Given the description of an element on the screen output the (x, y) to click on. 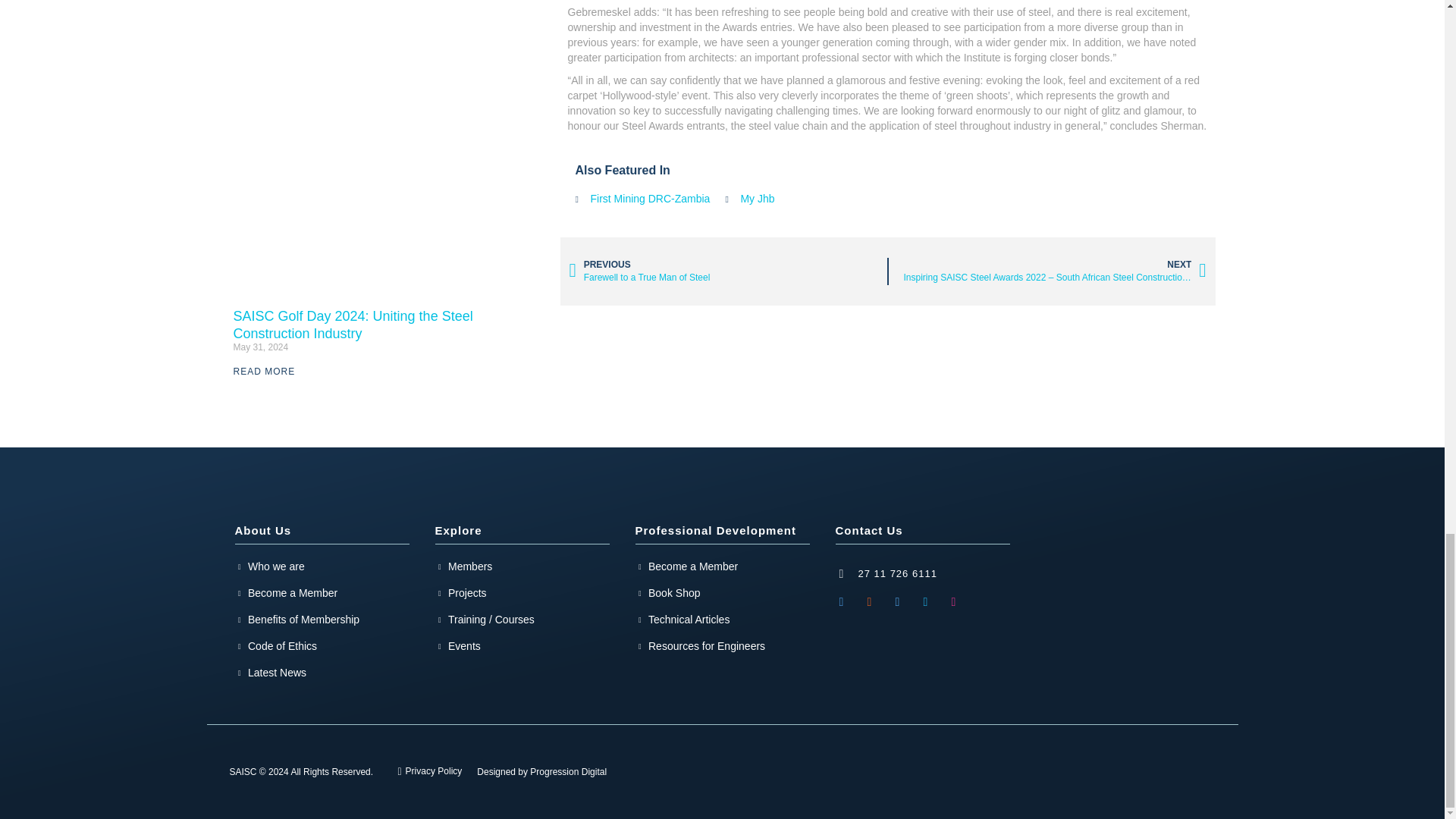
First Mining DRC-Zambia (642, 199)
SAISC Golf Day 2024: Uniting the Steel Construction Industry (352, 324)
My Jhb (749, 199)
READ MORE (263, 371)
